Given the description of an element on the screen output the (x, y) to click on. 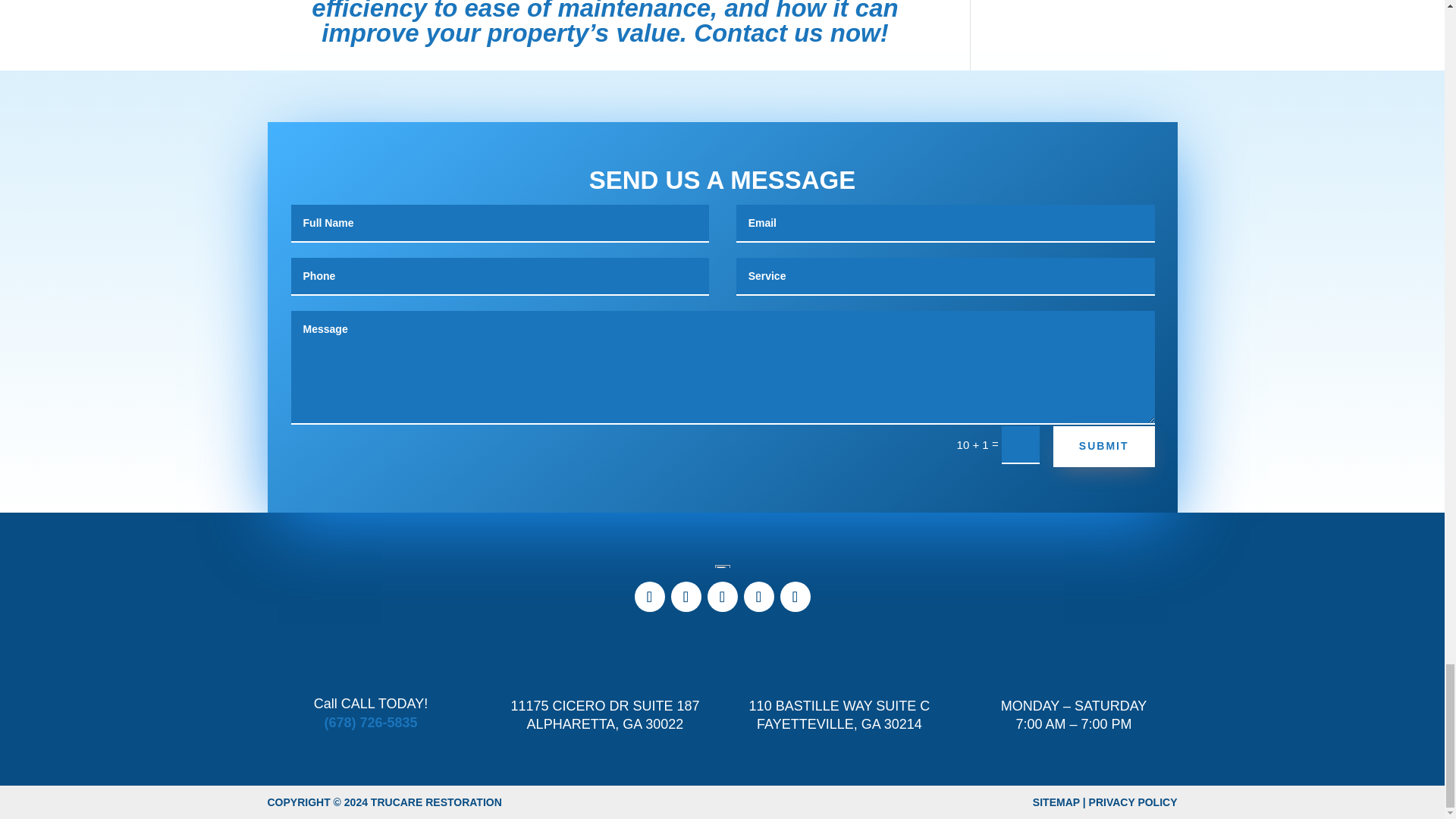
Follow on Yelp (757, 596)
Maximum length: 100 characters. (945, 276)
Only numbers allowed. (500, 276)
Follow on Bandcamp (793, 596)
Follow on Facebook (648, 596)
Follow on Google (721, 596)
Follow on Twitter (684, 596)
logo-alt (721, 566)
